Given the description of an element on the screen output the (x, y) to click on. 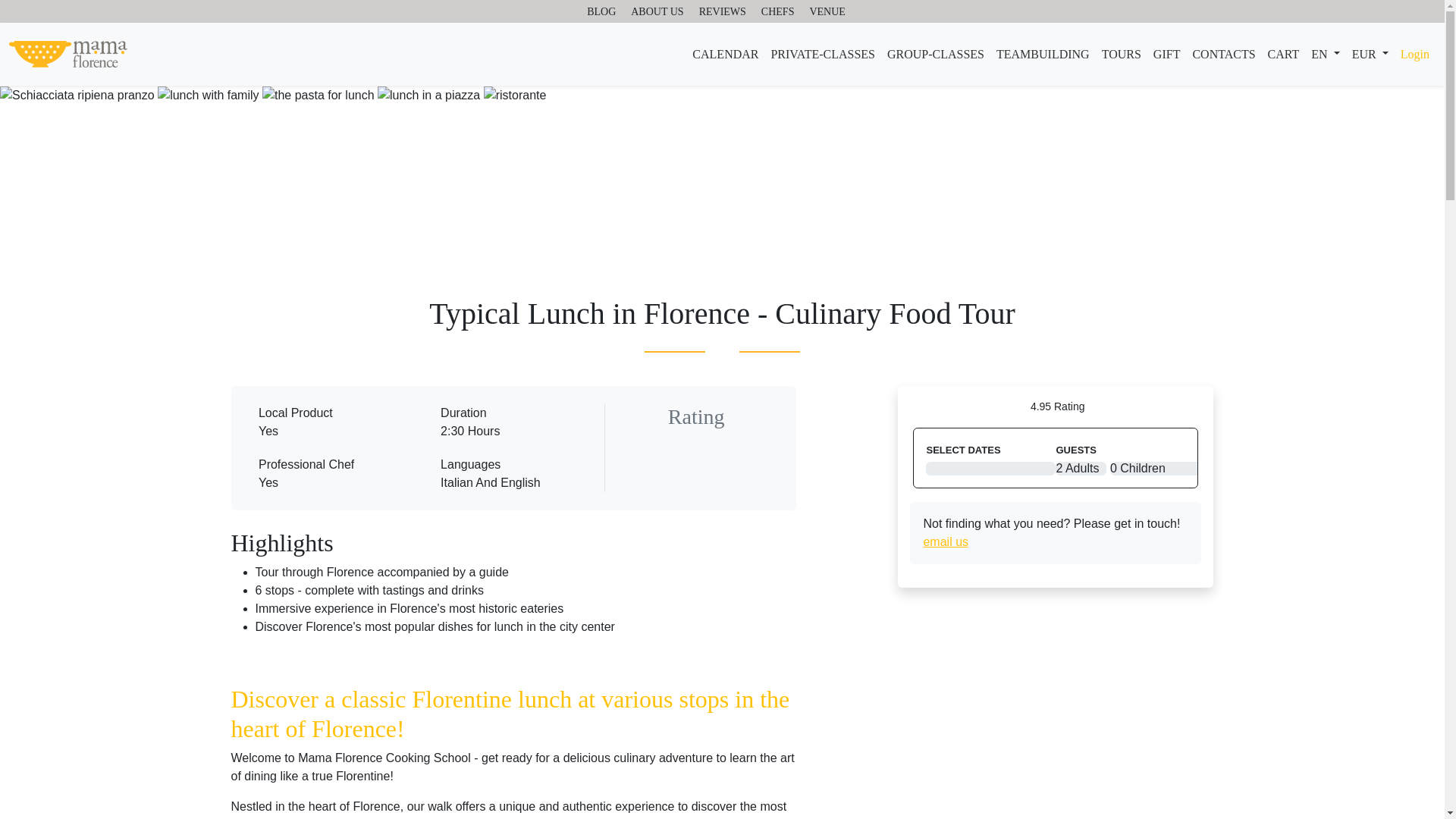
EUR (1369, 54)
CALENDAR (724, 54)
Login (1414, 54)
GROUP-CLASSES (935, 54)
BLOG (600, 11)
PRIVATE-CLASSES (822, 54)
CART (1284, 54)
TEAMBUILDING (1043, 54)
REVIEWS (721, 11)
email us (945, 541)
